Given the description of an element on the screen output the (x, y) to click on. 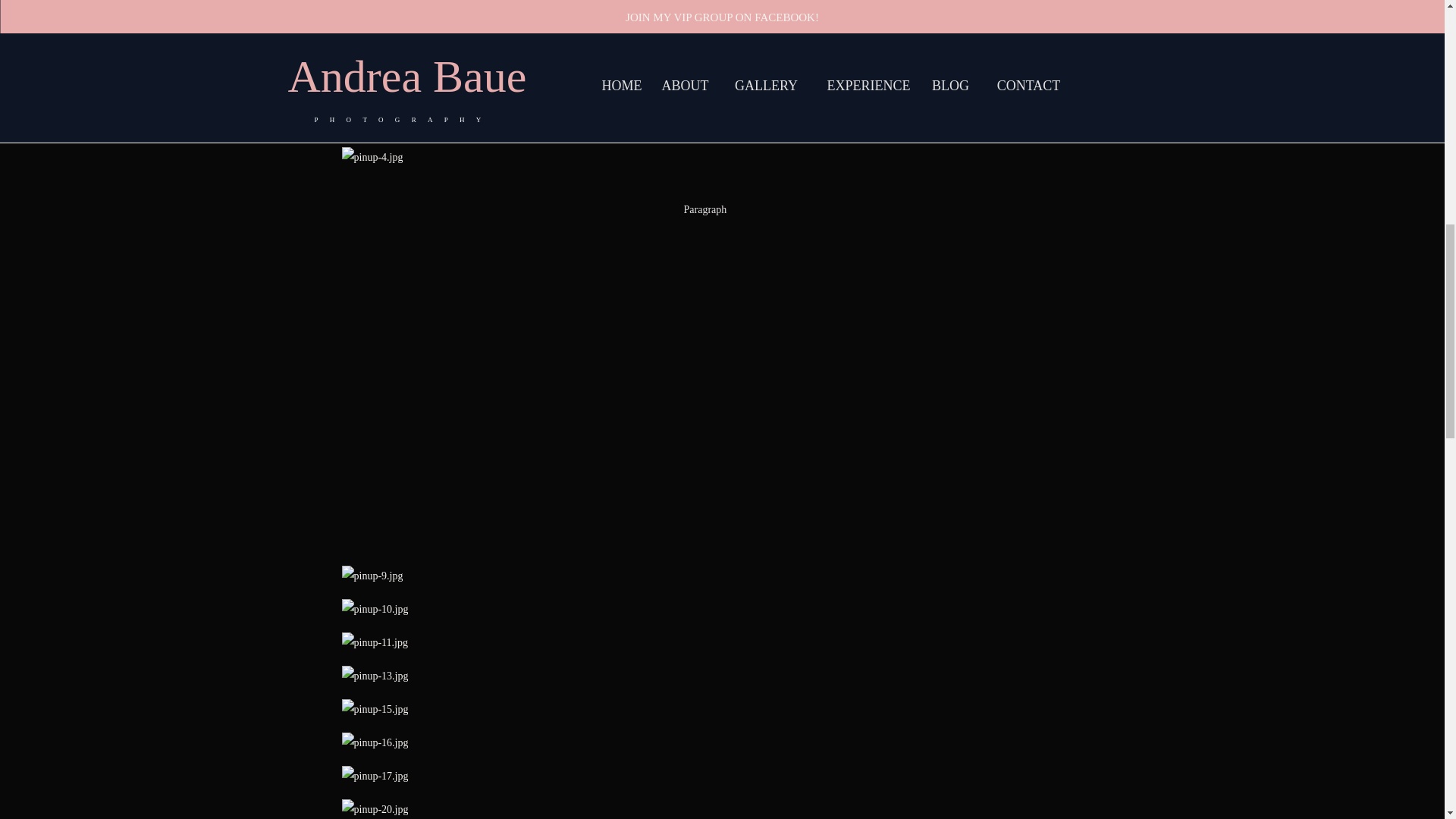
Contact me (365, 90)
